Given the description of an element on the screen output the (x, y) to click on. 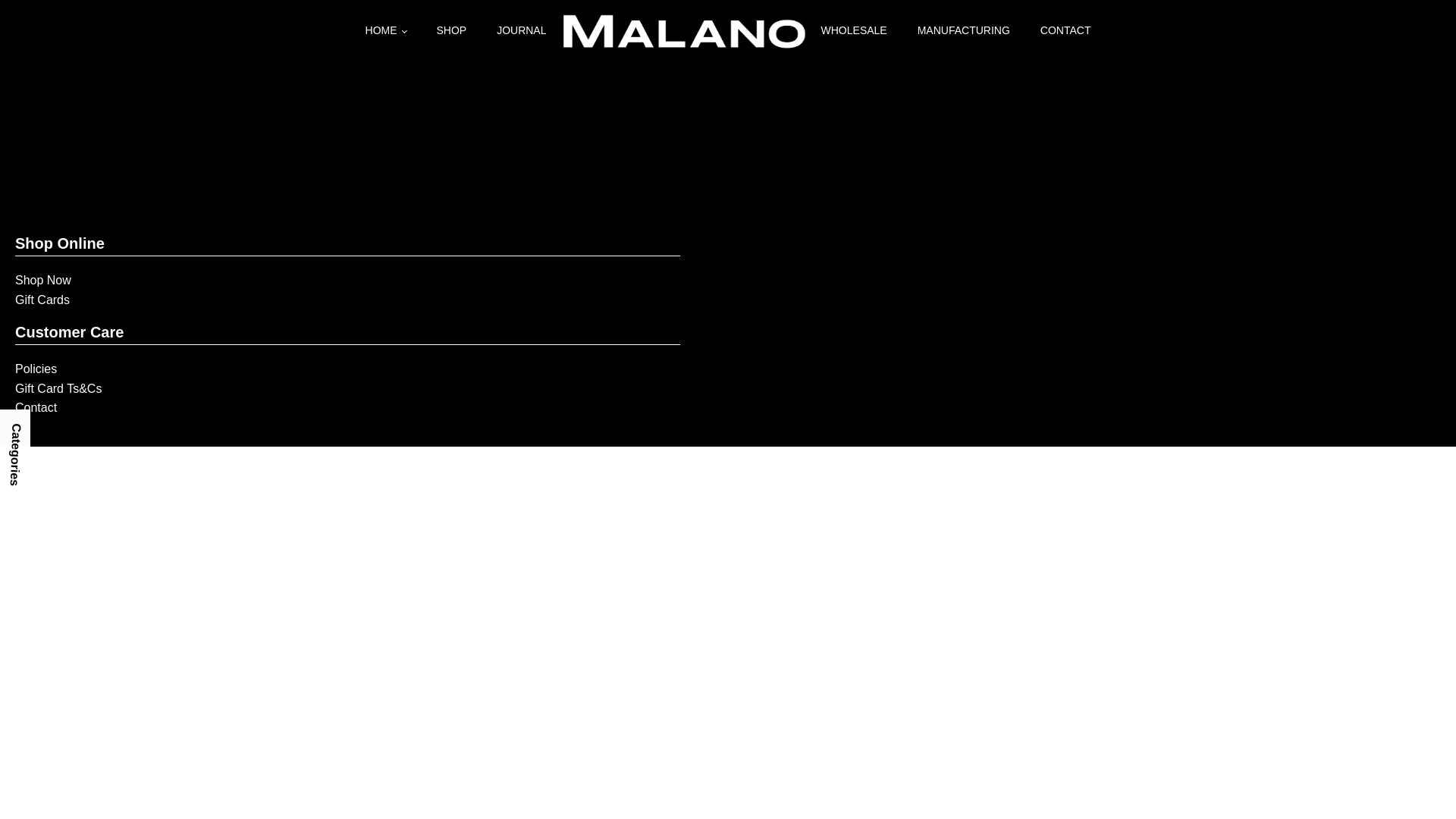
Contact Element type: text (35, 407)
Policies Element type: text (35, 369)
HOME Element type: text (385, 30)
SHOP Element type: text (450, 30)
Gift Cards Element type: text (42, 300)
Gift Card Ts&Cs Element type: text (58, 388)
WHOLESALE Element type: text (854, 30)
Shop Now Element type: text (43, 280)
MANUFACTURING Element type: text (963, 30)
CONTACT Element type: text (1065, 30)
JOURNAL Element type: text (521, 30)
